Given the description of an element on the screen output the (x, y) to click on. 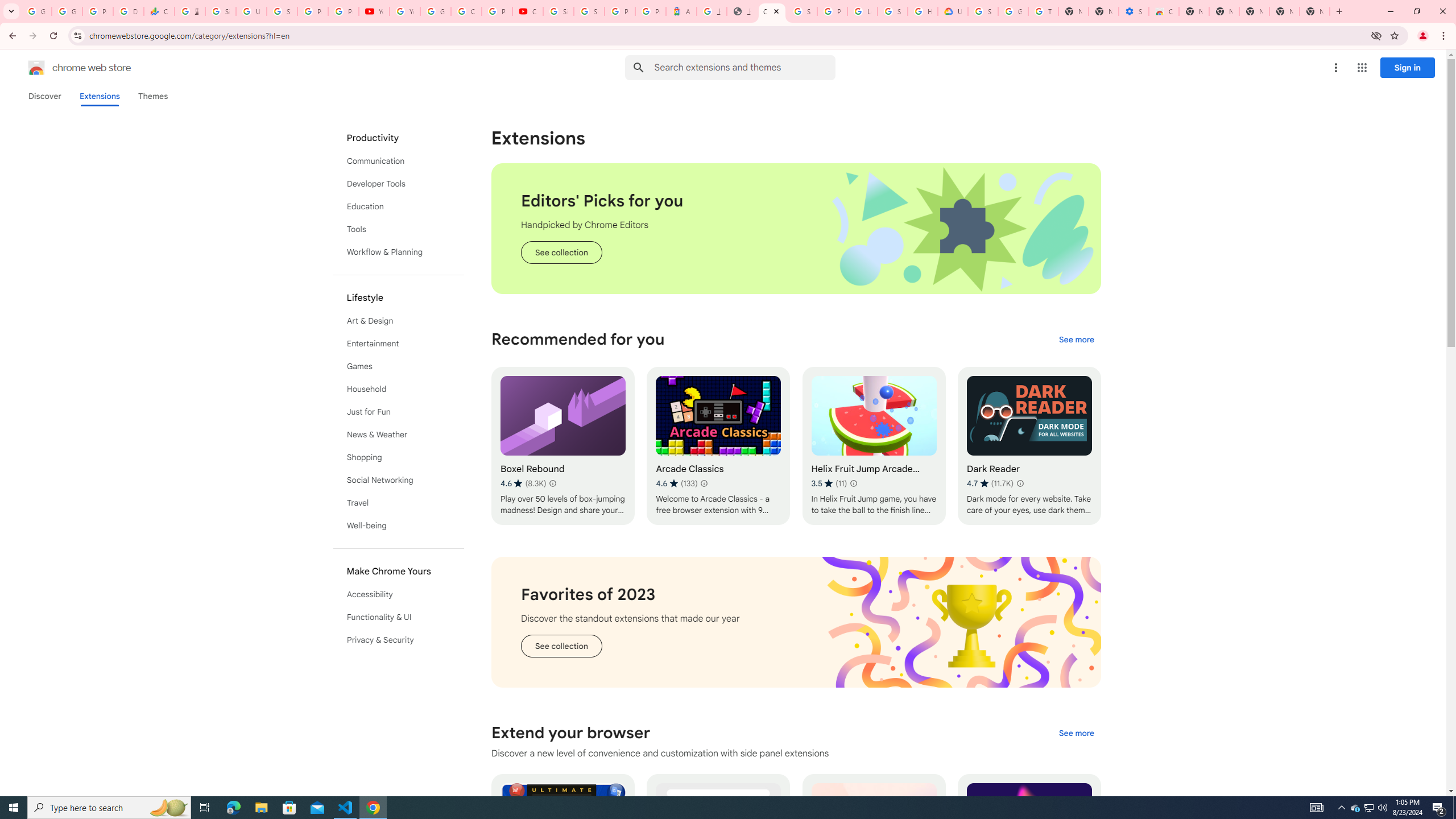
Arcade Classics (718, 445)
Art & Design (398, 320)
Communication (398, 160)
Well-being (398, 525)
Learn more about results and reviews "Dark Reader" (1019, 483)
Helix Fruit Jump Arcade Game (873, 445)
Average rating 4.6 out of 5 stars. 133 ratings. (676, 482)
Entertainment (398, 343)
See more of the "Extend your browser" collection (1075, 732)
Currencies - Google Finance (158, 11)
Learn more about results and reviews "Boxel Rebound" (552, 483)
